Given the description of an element on the screen output the (x, y) to click on. 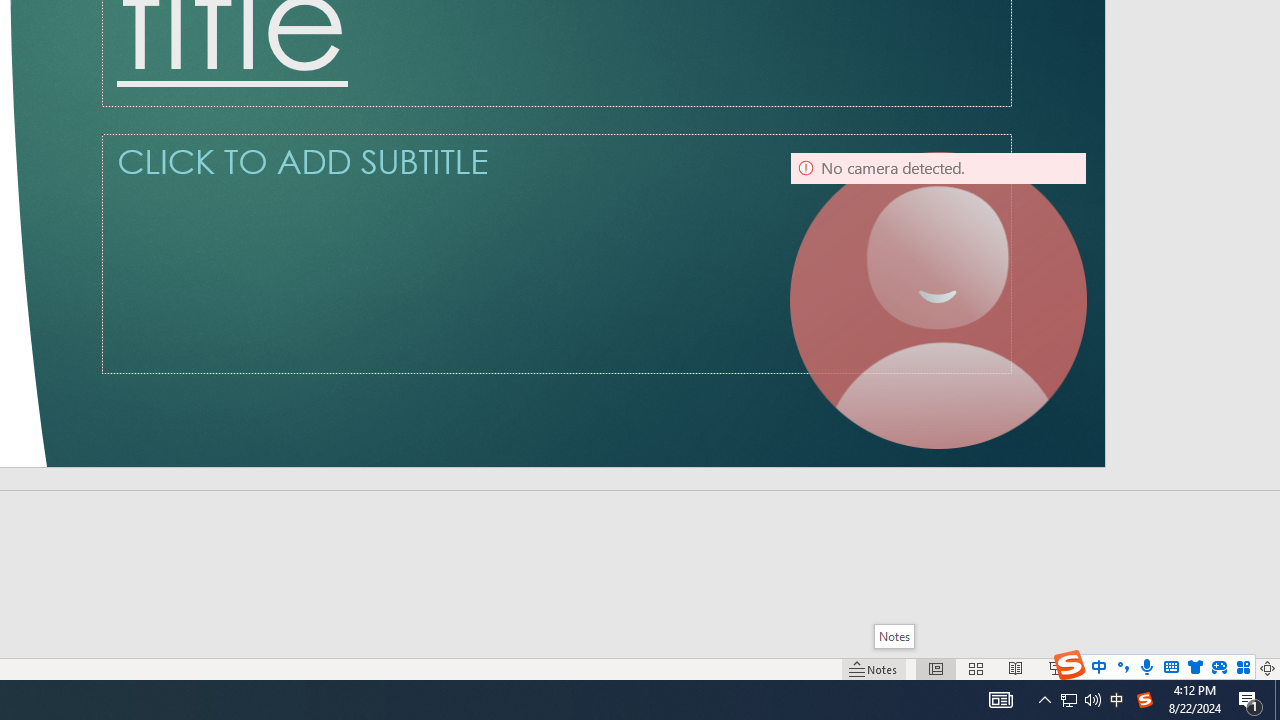
Notes (894, 636)
Zoom 140% (1234, 668)
